Given the description of an element on the screen output the (x, y) to click on. 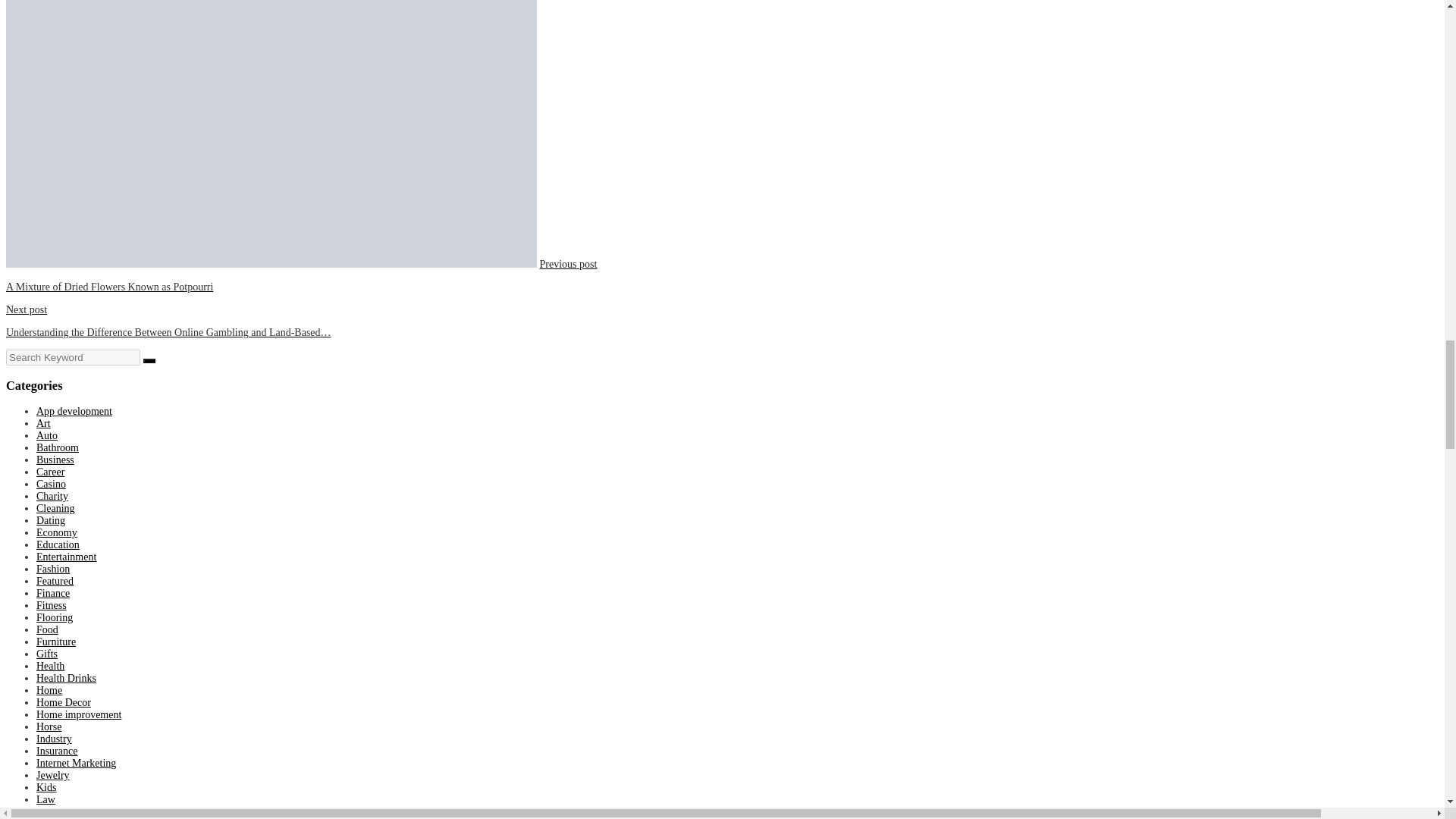
Casino (50, 483)
Bathroom (57, 447)
App development (74, 410)
Charity (52, 496)
Art (43, 423)
Auto (47, 435)
Business (55, 460)
Career (50, 471)
